Given the description of an element on the screen output the (x, y) to click on. 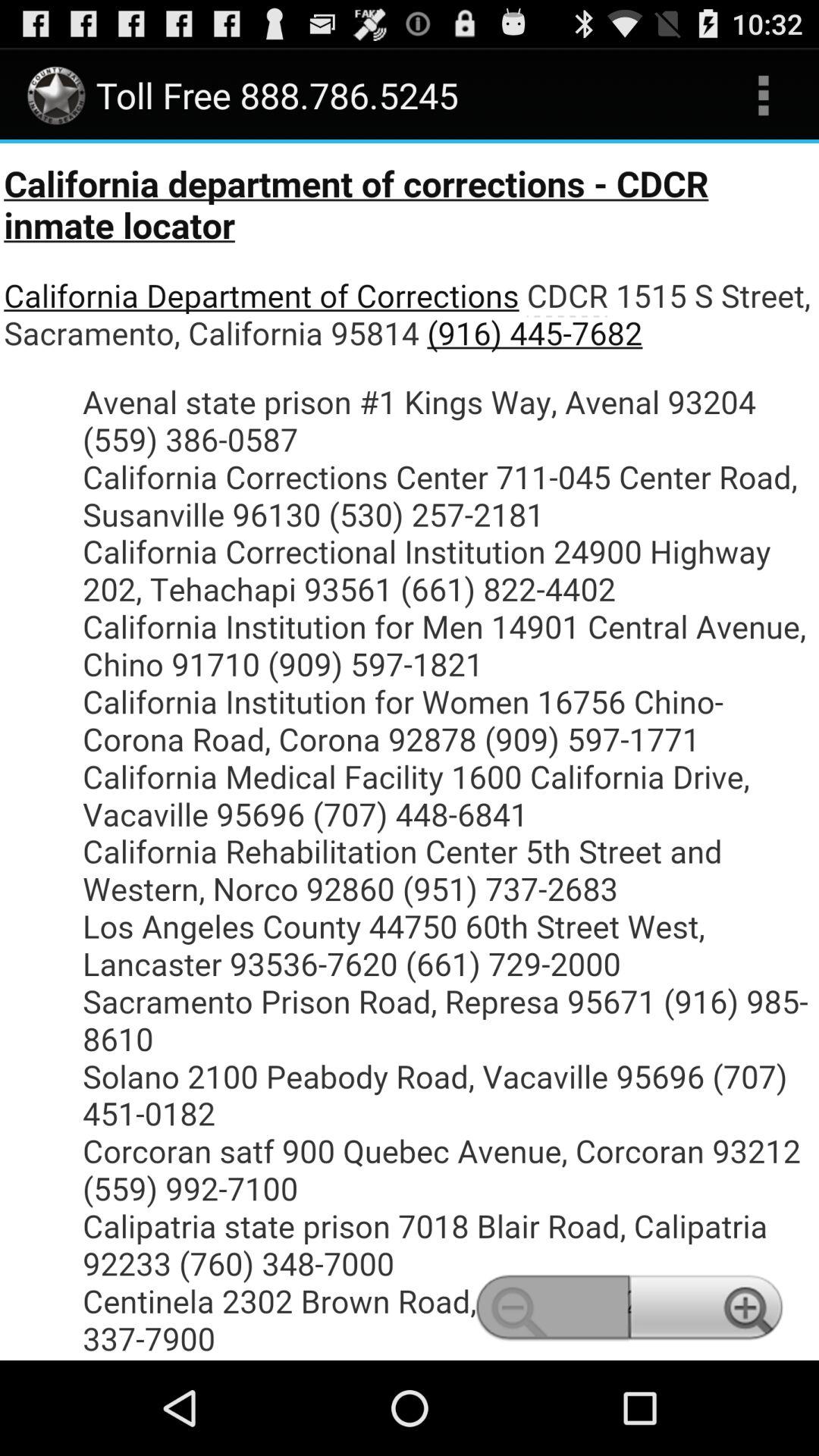
zoom (409, 751)
